Given the description of an element on the screen output the (x, y) to click on. 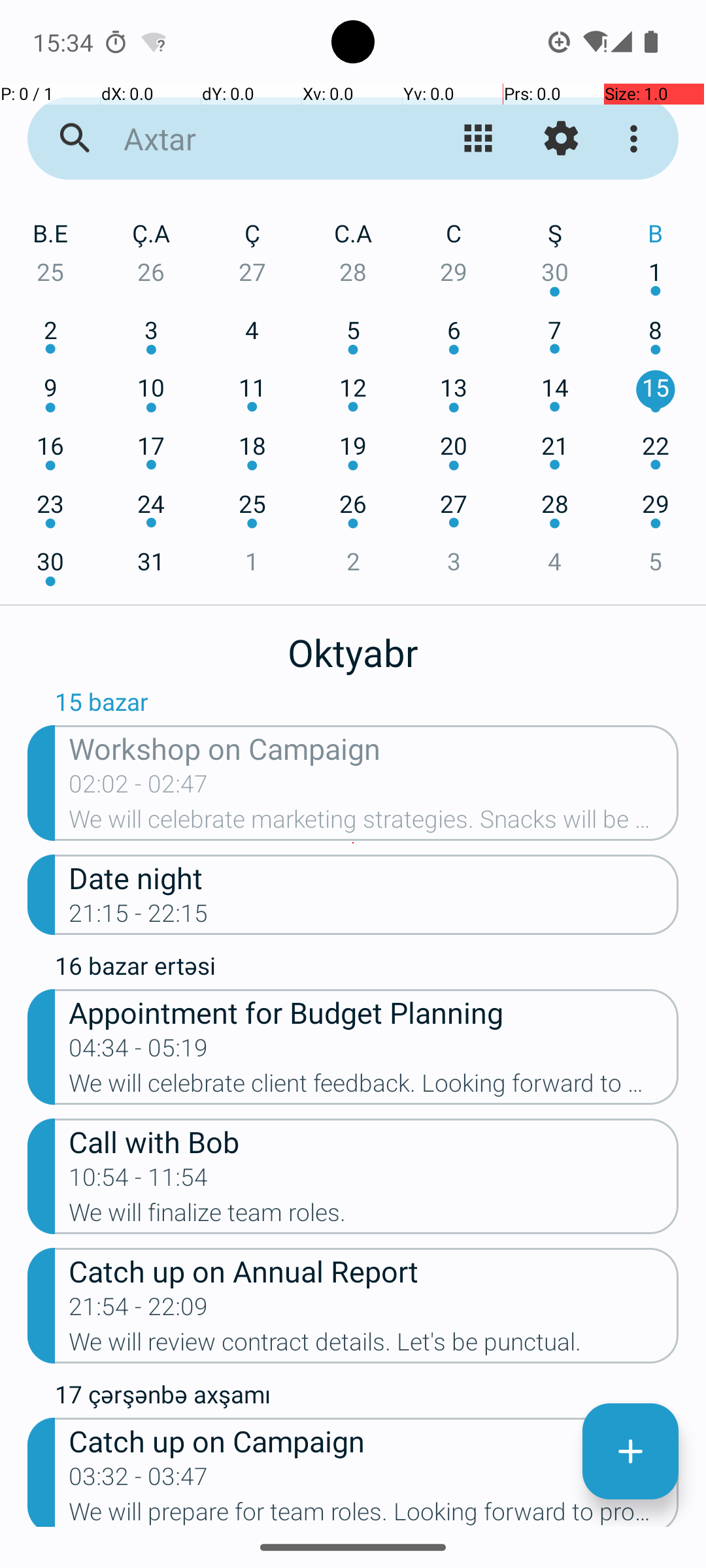
15 bazar Element type: android.widget.TextView (366, 704)
16 bazar ertəsi Element type: android.widget.TextView (366, 968)
17 çərşənbə axşamı Element type: android.widget.TextView (366, 1397)
02:02 - 02:47 Element type: android.widget.TextView (137, 787)
We will celebrate marketing strategies. Snacks will be provided. Element type: android.widget.TextView (373, 822)
Date night Element type: android.widget.TextView (373, 876)
21:15 - 22:15 Element type: android.widget.TextView (137, 916)
04:34 - 05:19 Element type: android.widget.TextView (137, 1051)
We will celebrate client feedback. Looking forward to productive discussions. Element type: android.widget.TextView (373, 1086)
10:54 - 11:54 Element type: android.widget.TextView (137, 1180)
We will finalize team roles. Element type: android.widget.TextView (373, 1216)
21:54 - 22:09 Element type: android.widget.TextView (137, 1310)
We will review contract details. Let's be punctual. Element type: android.widget.TextView (373, 1345)
03:32 - 03:47 Element type: android.widget.TextView (137, 1480)
We will prepare for team roles. Looking forward to productive discussions. Element type: android.widget.TextView (373, 1512)
